Given the description of an element on the screen output the (x, y) to click on. 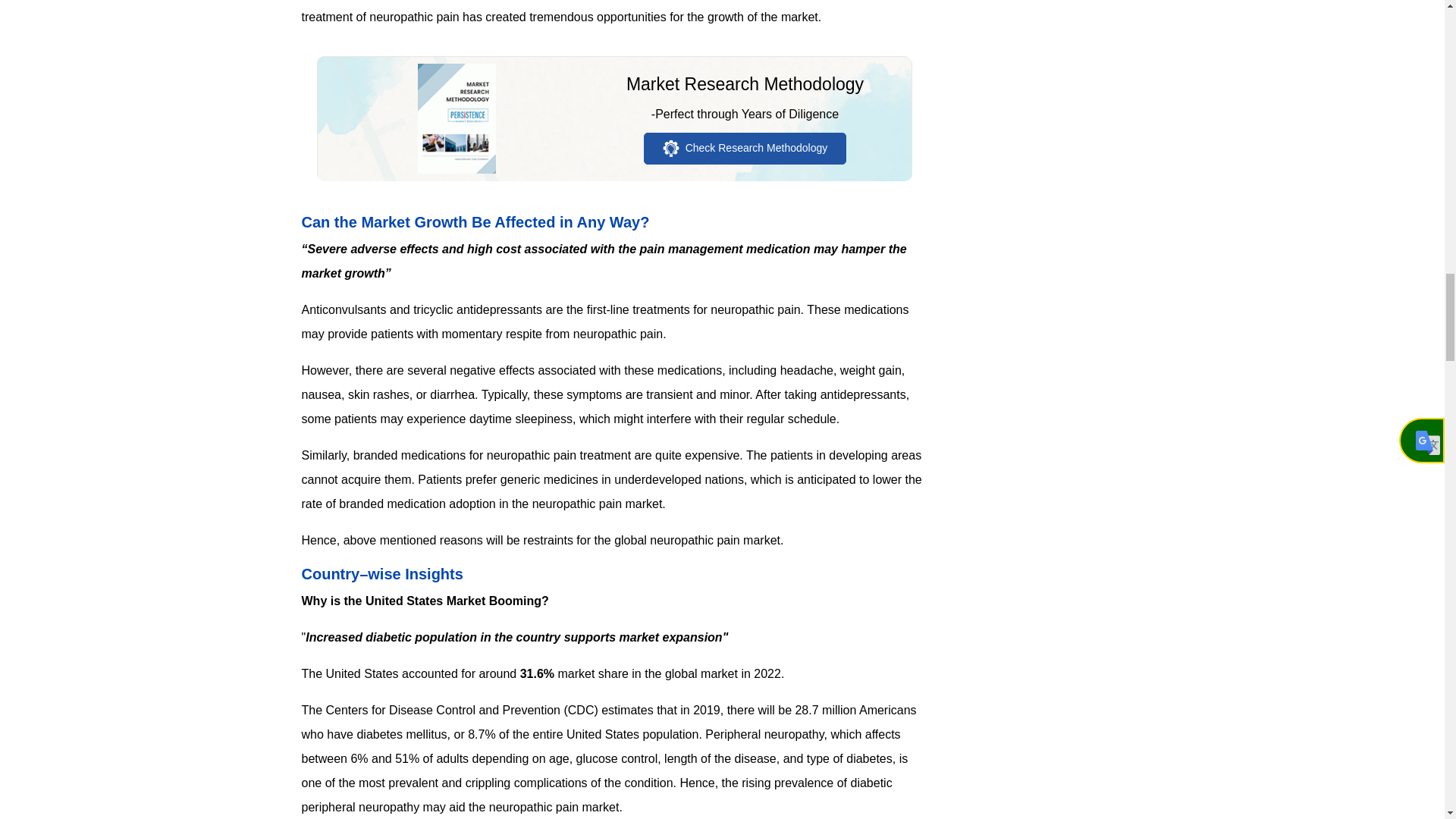
Check Research Methodology (744, 148)
